Given the description of an element on the screen output the (x, y) to click on. 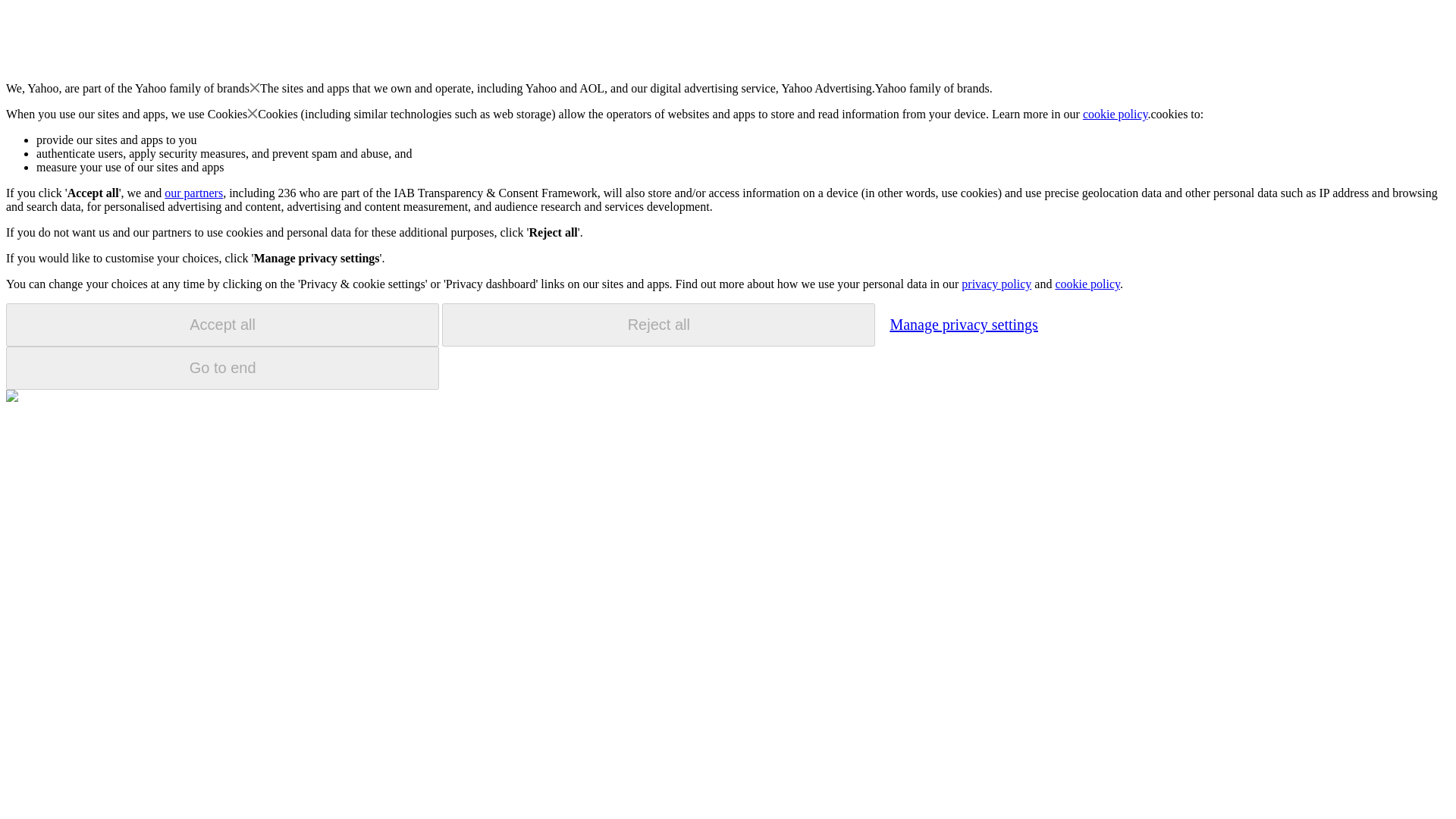
privacy policy (995, 283)
our partners (193, 192)
cookie policy (1115, 113)
Reject all (658, 324)
cookie policy (1086, 283)
Go to end (222, 367)
Accept all (222, 324)
Manage privacy settings (963, 323)
